Given the description of an element on the screen output the (x, y) to click on. 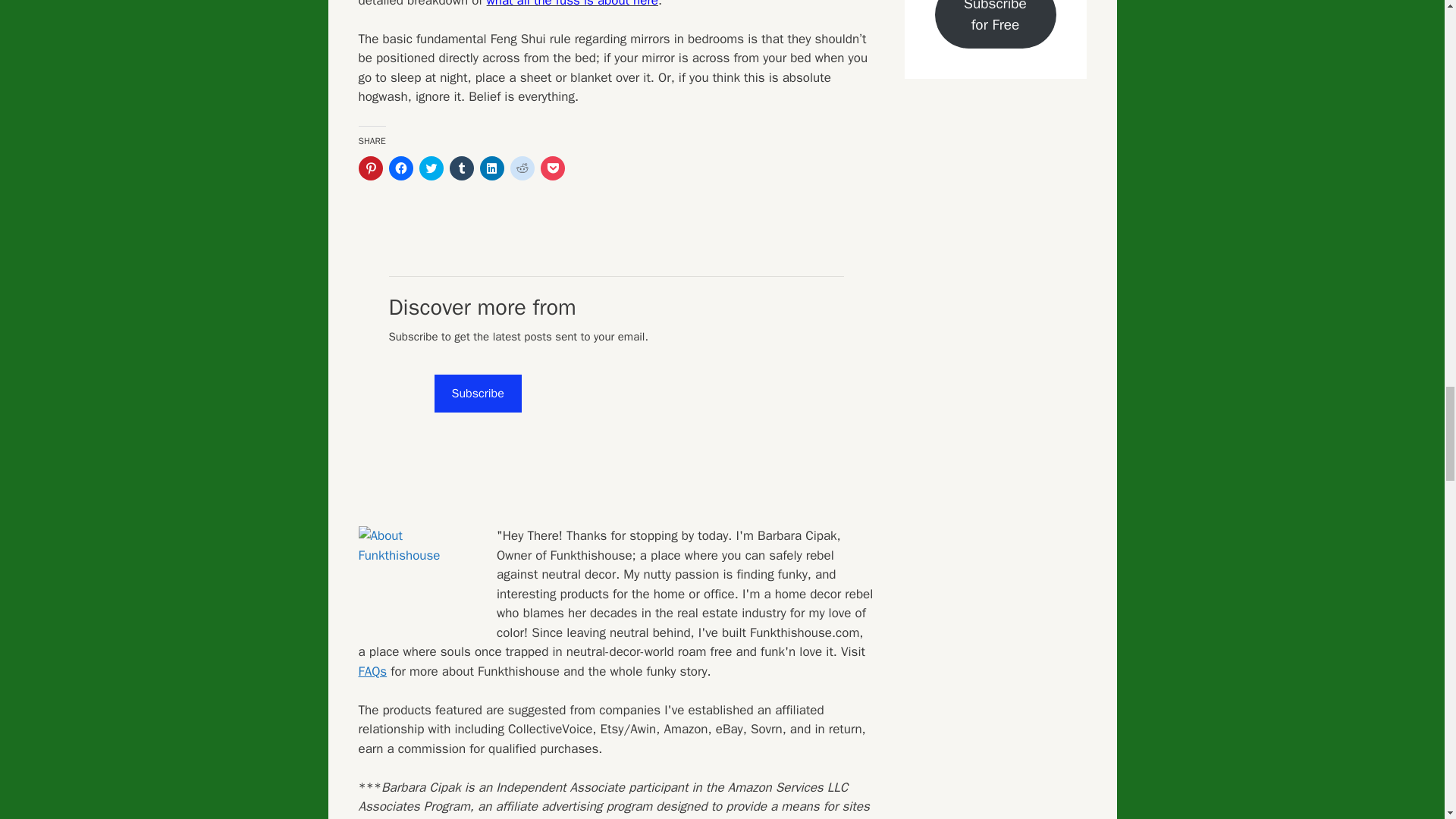
Click to share on Pocket (552, 168)
Click to share on Tumblr (460, 168)
Click to share on Twitter (430, 168)
Click to share on LinkedIn (491, 168)
Click to share on Facebook (400, 168)
Click to share on Reddit (521, 168)
Click to share on Pinterest (369, 168)
